Given the description of an element on the screen output the (x, y) to click on. 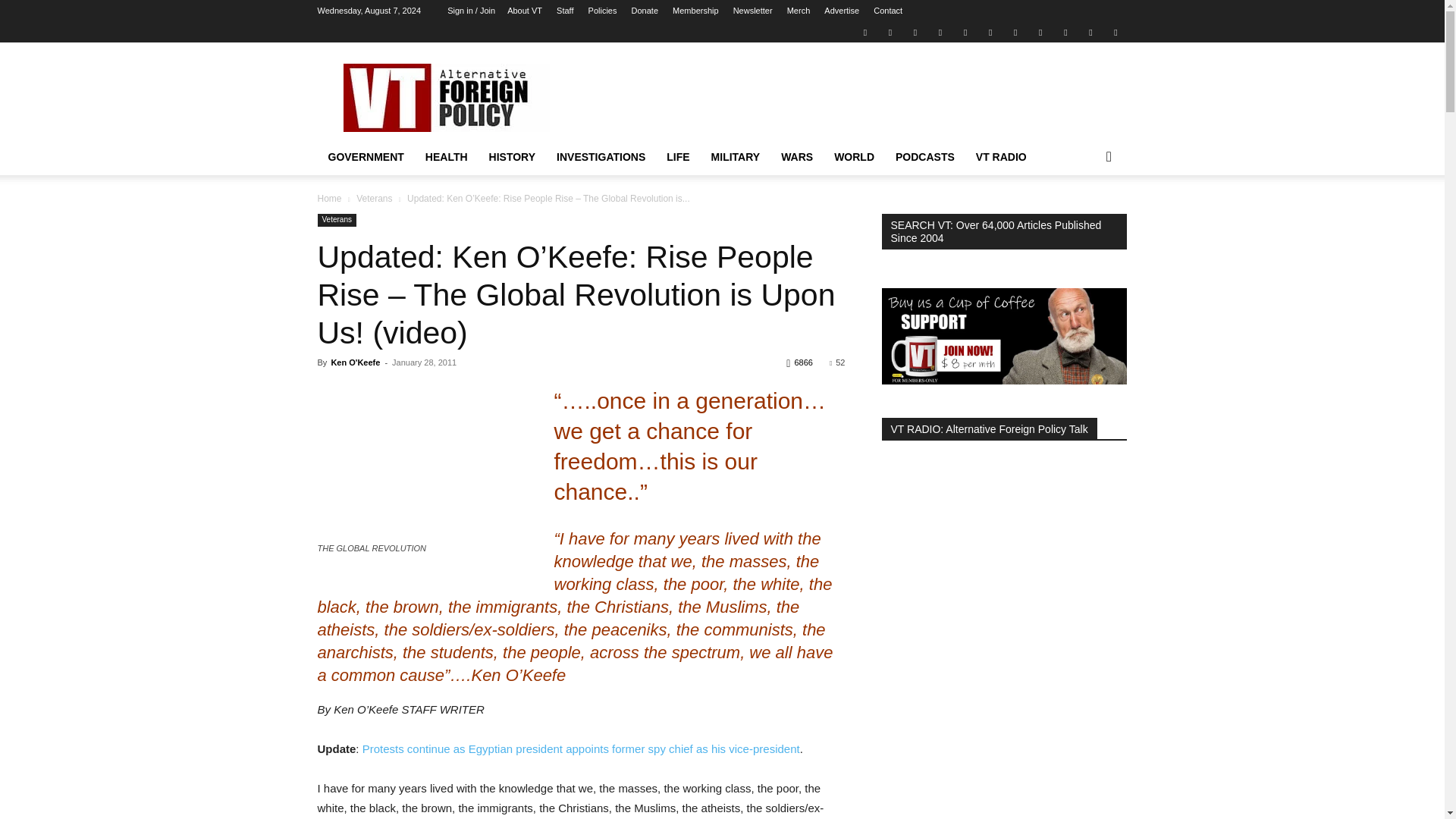
Rumble (964, 31)
About VT (523, 10)
Staff (564, 10)
Reddit (940, 31)
Mail (915, 31)
Contact (887, 10)
Advertise (841, 10)
Newsletter (753, 10)
Membership (695, 10)
Blogger (864, 31)
